Given the description of an element on the screen output the (x, y) to click on. 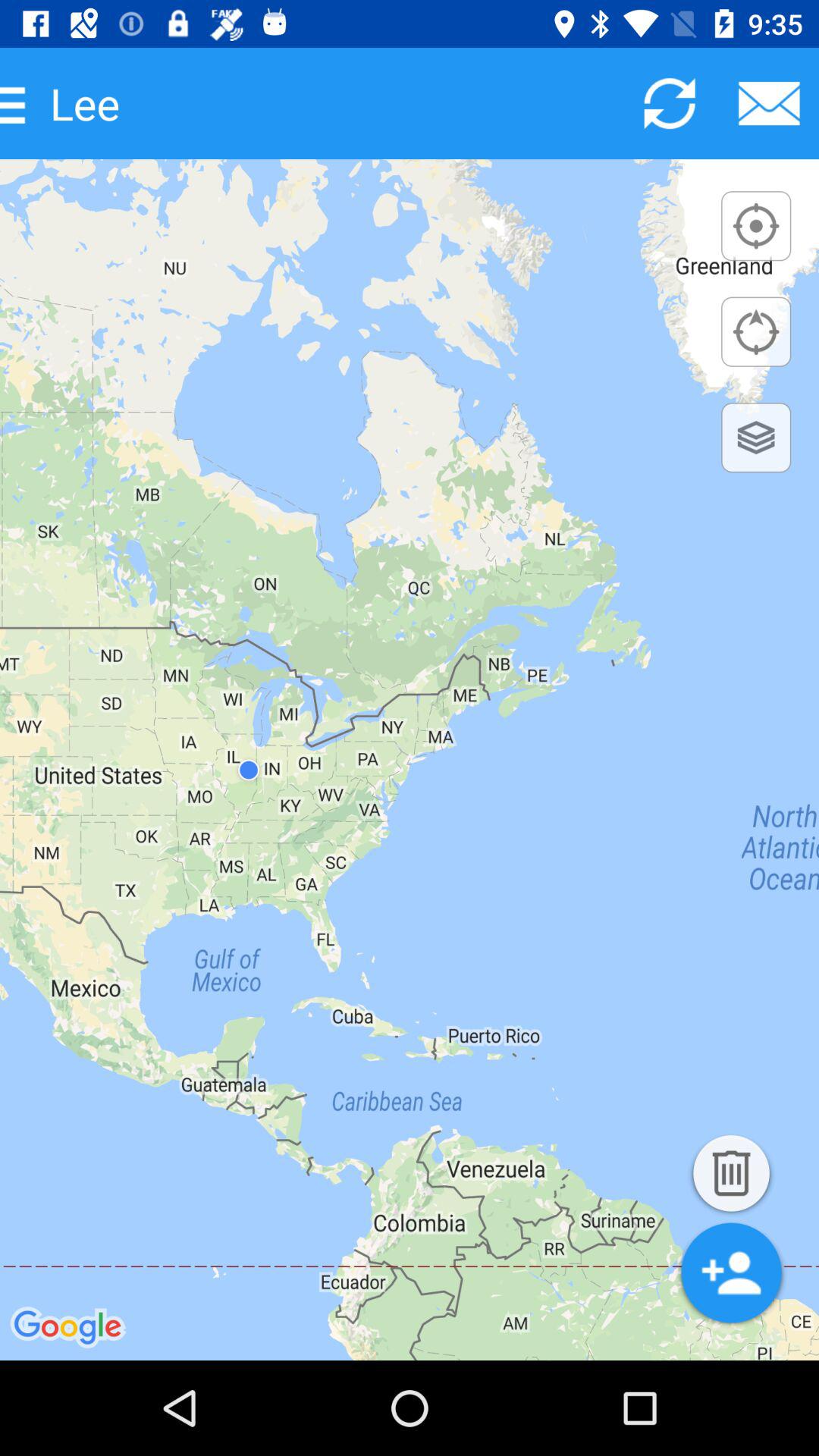
send e-mail (769, 103)
